Given the description of an element on the screen output the (x, y) to click on. 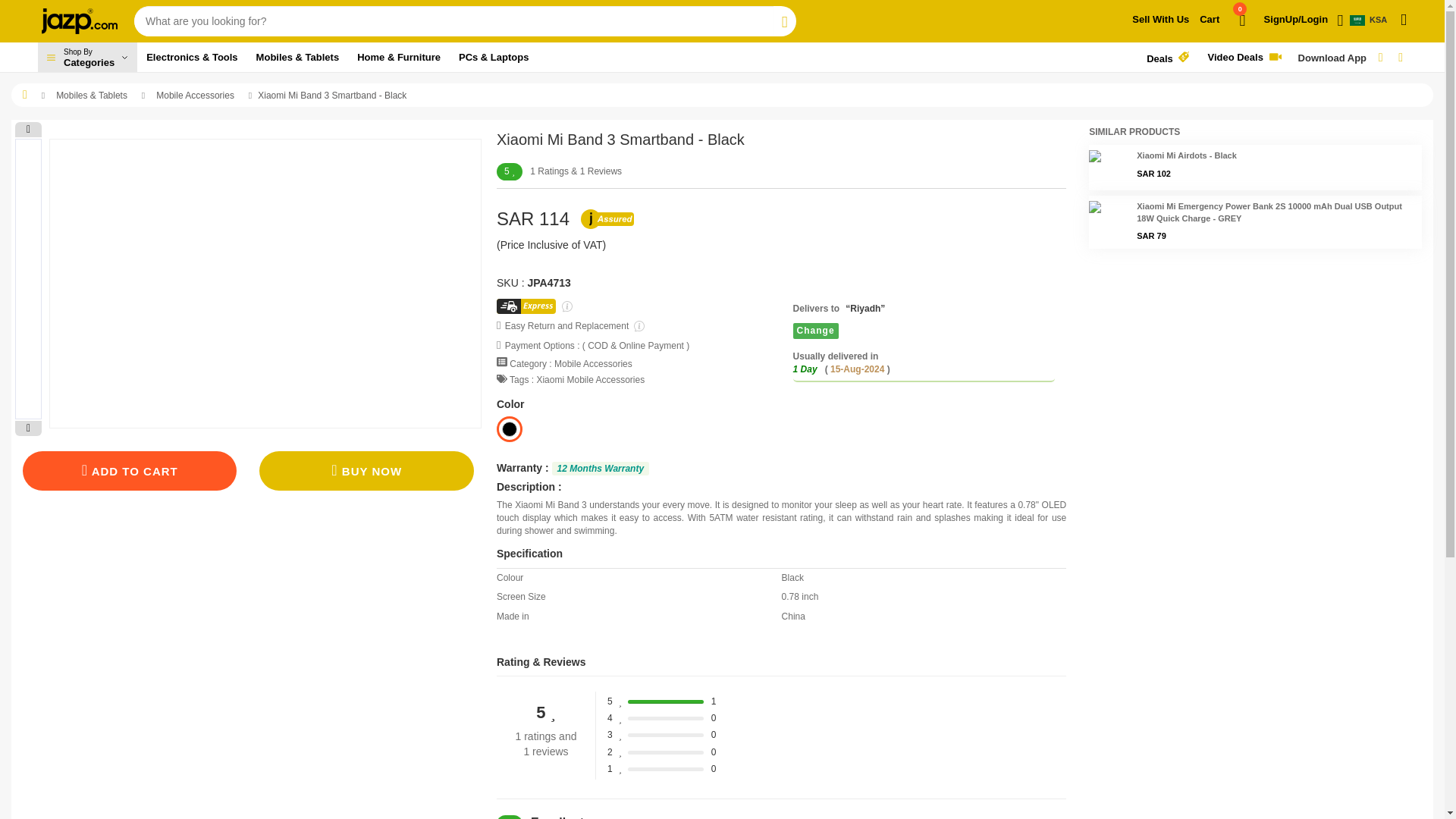
KSA (86, 57)
Sell With Us (1371, 19)
Deals (1160, 19)
Video Deals (1167, 57)
Shop By Categories (1247, 57)
